Given the description of an element on the screen output the (x, y) to click on. 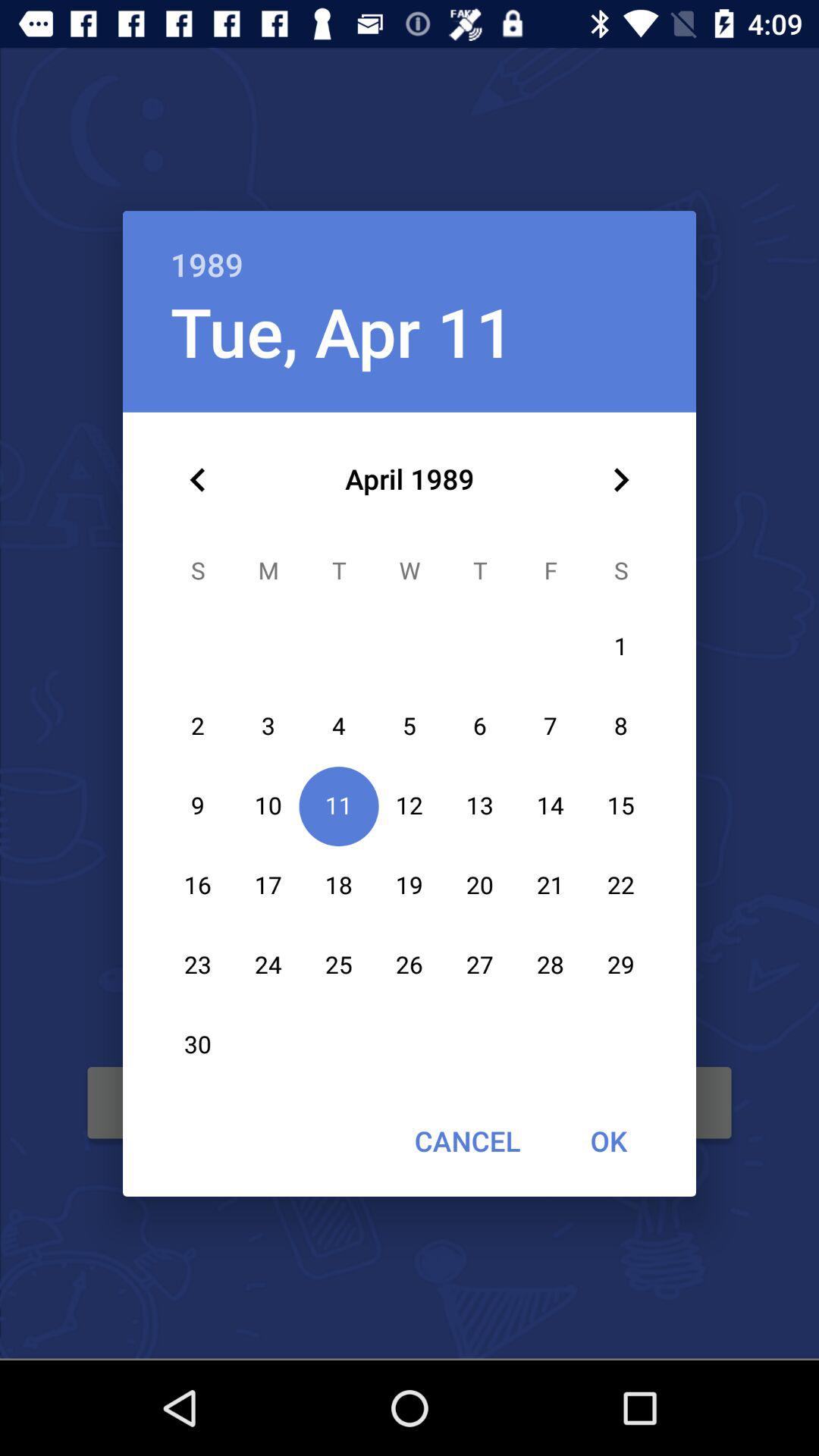
turn off the item below the tue, apr 11 icon (197, 479)
